Given the description of an element on the screen output the (x, y) to click on. 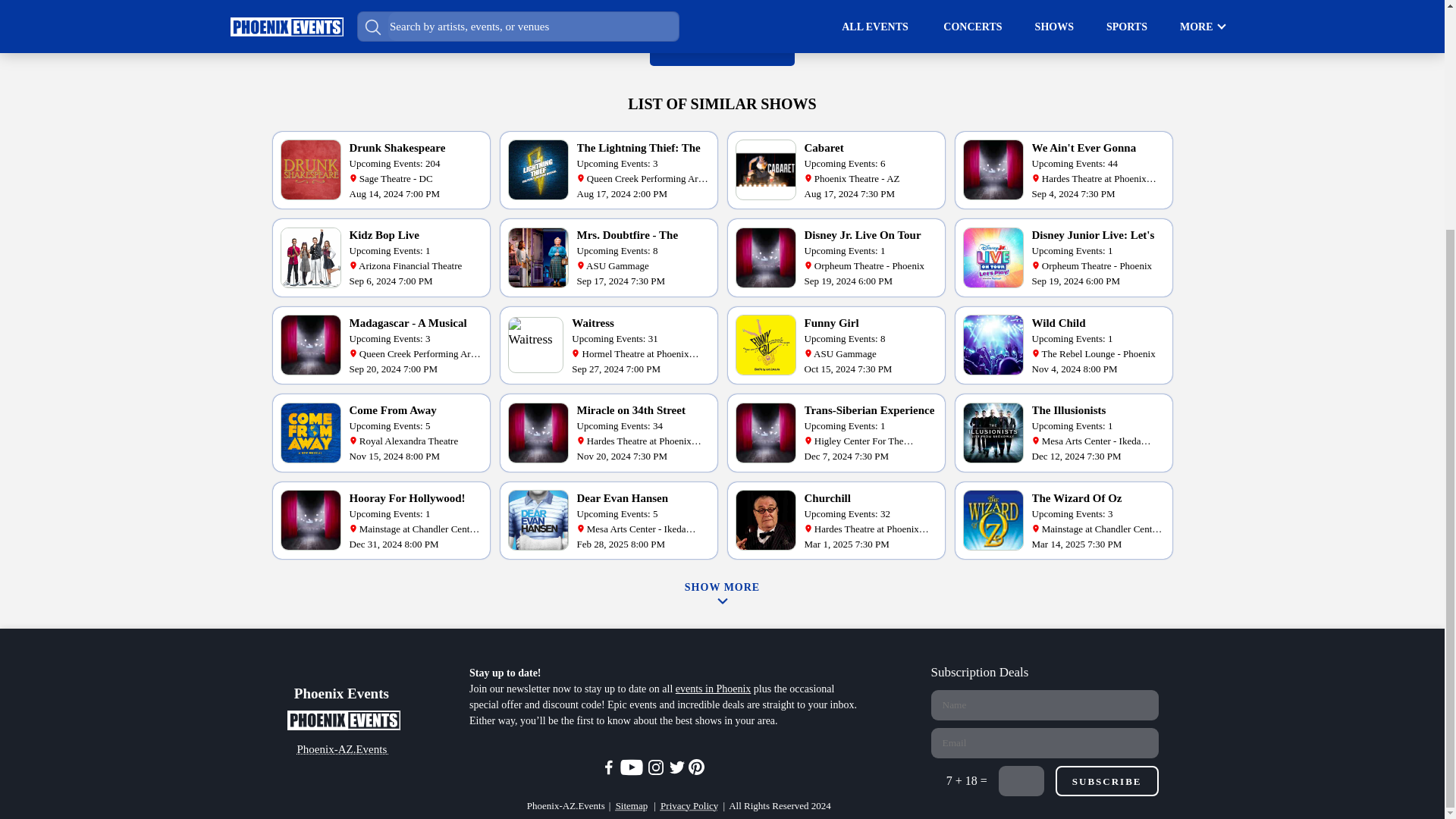
WHAT'S ON NEXT (721, 49)
